Given the description of an element on the screen output the (x, y) to click on. 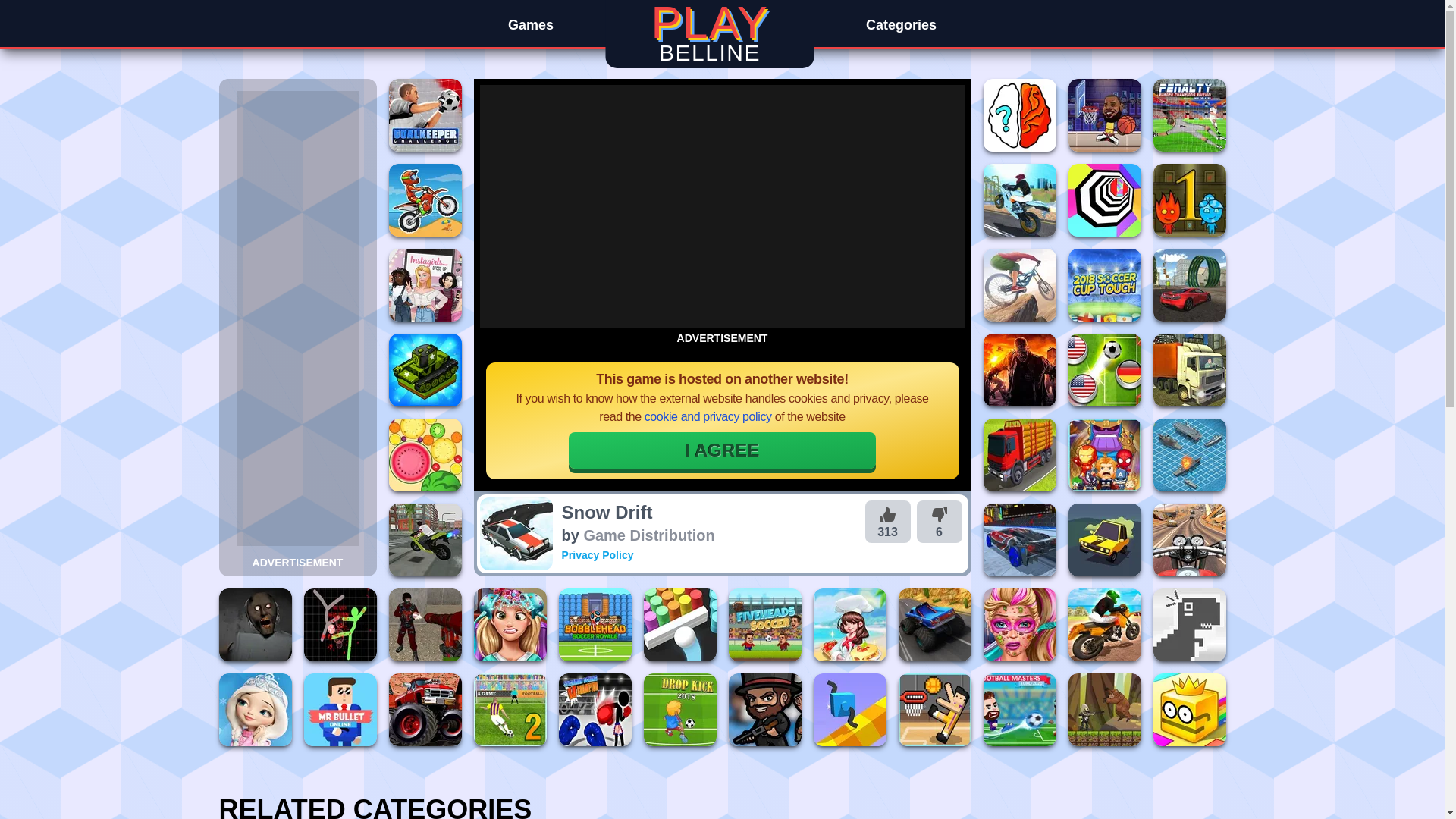
Privacy Policy (596, 554)
I AGREE (722, 450)
Games (530, 21)
Categories (900, 21)
cookie and privacy policy (706, 416)
